Given the description of an element on the screen output the (x, y) to click on. 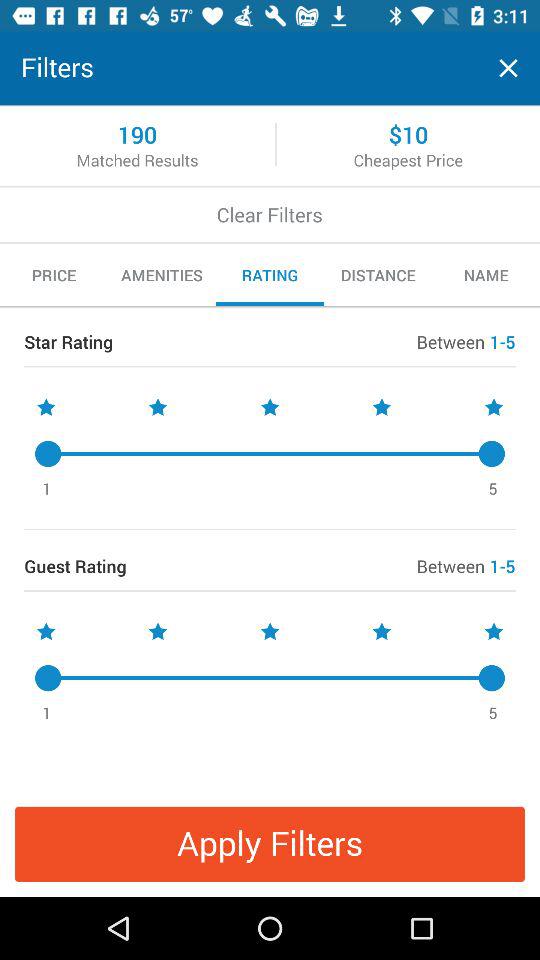
close (508, 67)
